Given the description of an element on the screen output the (x, y) to click on. 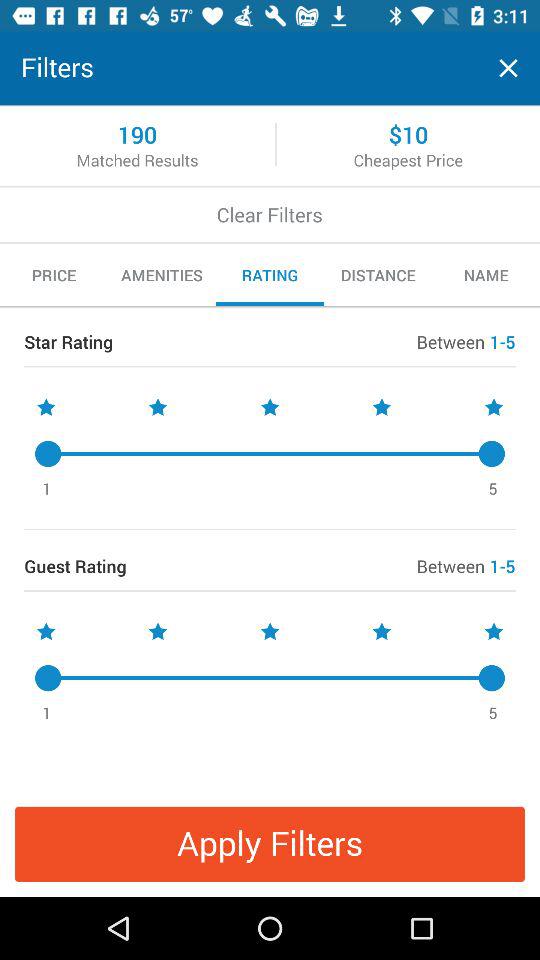
close (508, 67)
